Given the description of an element on the screen output the (x, y) to click on. 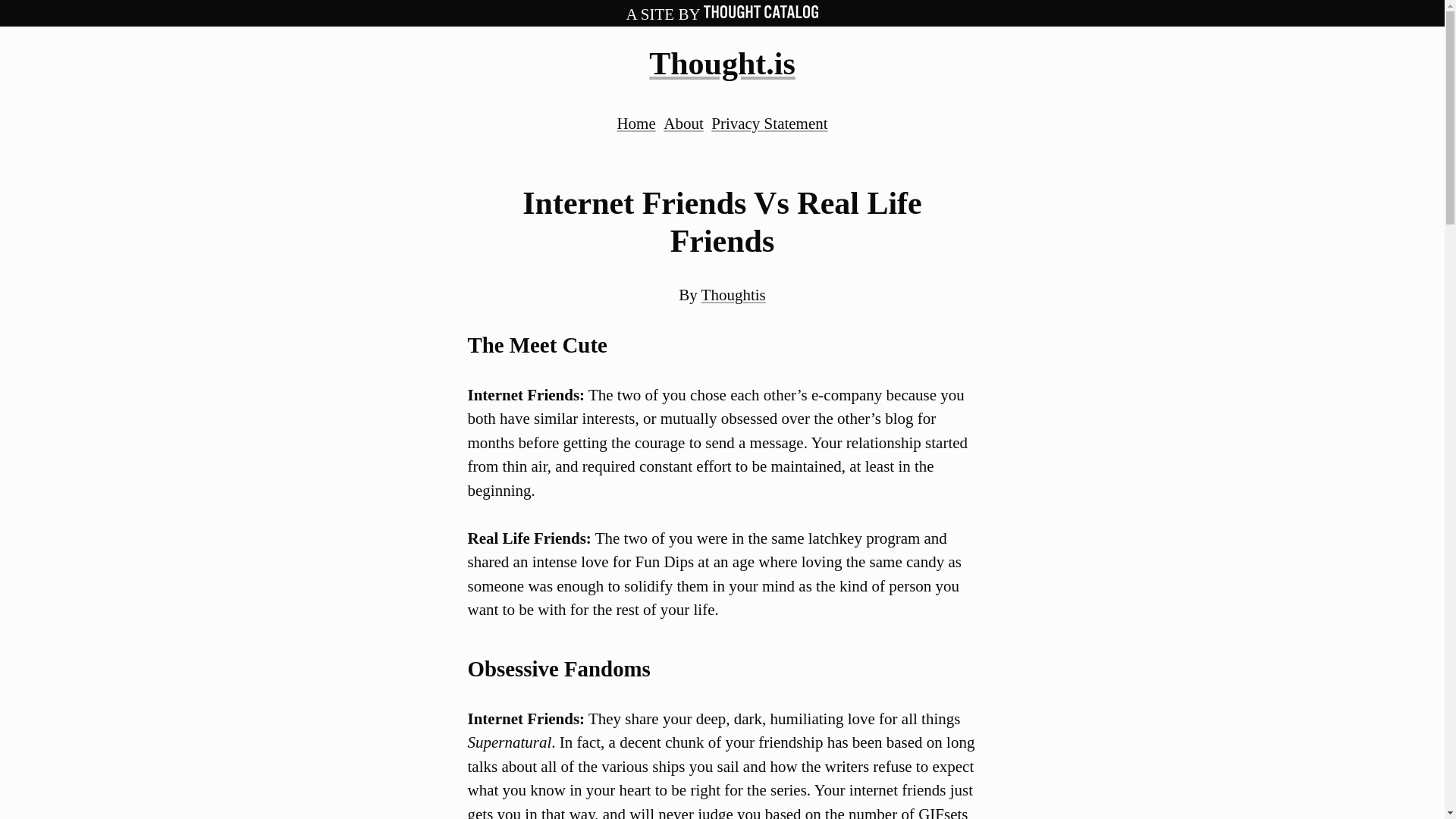
Thoughtis (733, 294)
Privacy Statement (769, 123)
THOUGHT CATALOG (760, 11)
Posts by Thoughtis (733, 294)
Home (635, 123)
THOUGHT CATALOG (760, 13)
Thought.is (721, 63)
About (683, 123)
